Given the description of an element on the screen output the (x, y) to click on. 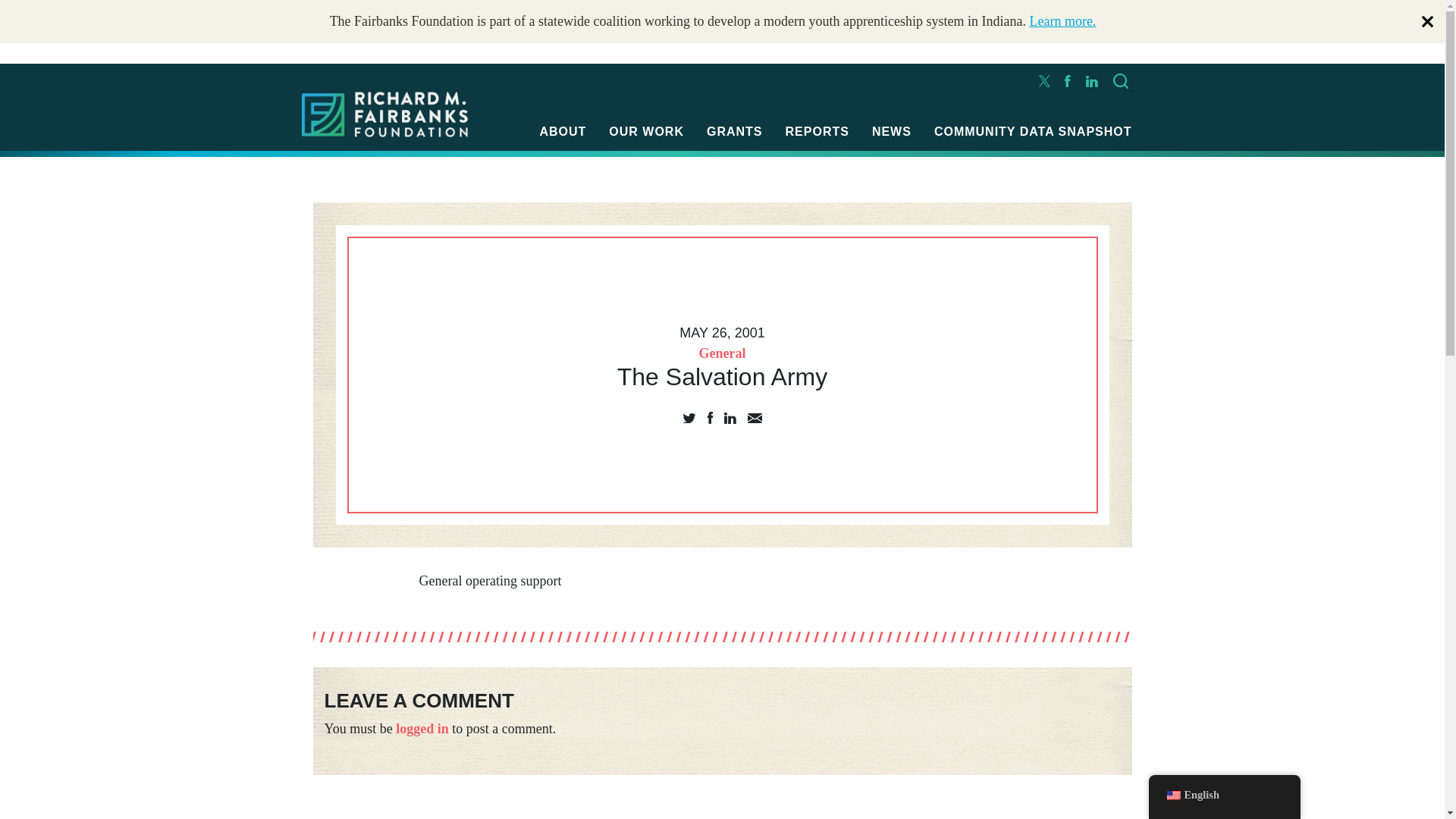
REPORTS (817, 131)
ABOUT (562, 131)
NEWS (891, 131)
GRANTS (734, 131)
Richard M. Fairbanks Foundation (384, 115)
OUR WORK (646, 131)
COMMUNITY DATA SNAPSHOT (1033, 131)
English (1172, 795)
Richard M. Fairbanks LinkedIn (1091, 79)
